Given the description of an element on the screen output the (x, y) to click on. 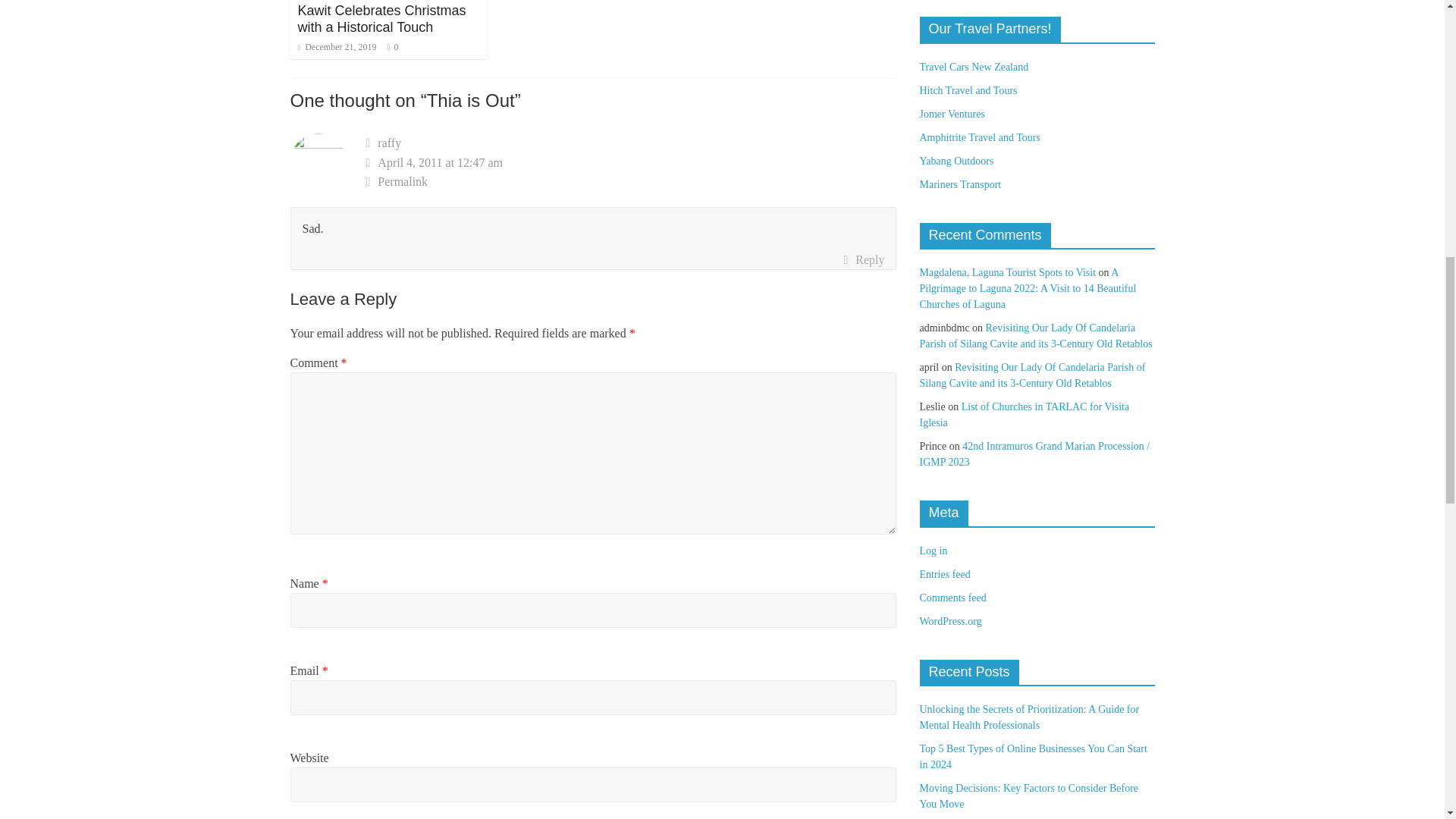
December 21, 2019 (336, 46)
Kawit Celebrates Christmas with a Historical Touch (381, 19)
11:35 am (336, 46)
Kawit Celebrates Christmas with a Historical Touch (381, 19)
